Given the description of an element on the screen output the (x, y) to click on. 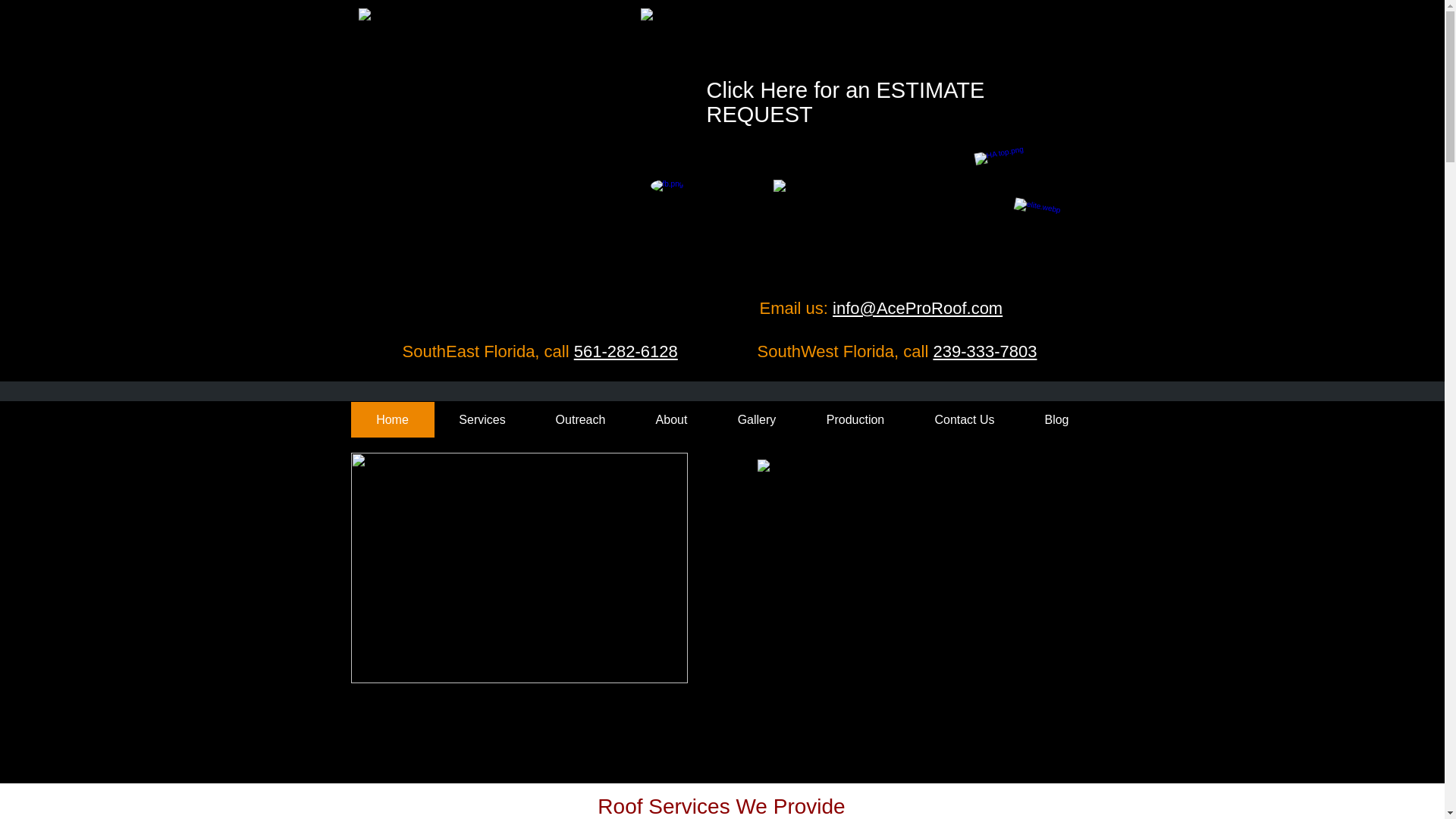
Ace Pro Logo.png (496, 143)
About (671, 419)
239-333-7803 (984, 351)
Blog (1056, 419)
Gallery (757, 419)
Ace Pro Header Final.PNG (859, 38)
Click Here for an ESTIMATE REQUEST (845, 101)
Contact Us (965, 419)
561-282-6128 (625, 351)
Home (391, 419)
Outreach (580, 419)
Production (854, 419)
Services (481, 419)
Ace Pro Header Final.PNG (859, 223)
